Given the description of an element on the screen output the (x, y) to click on. 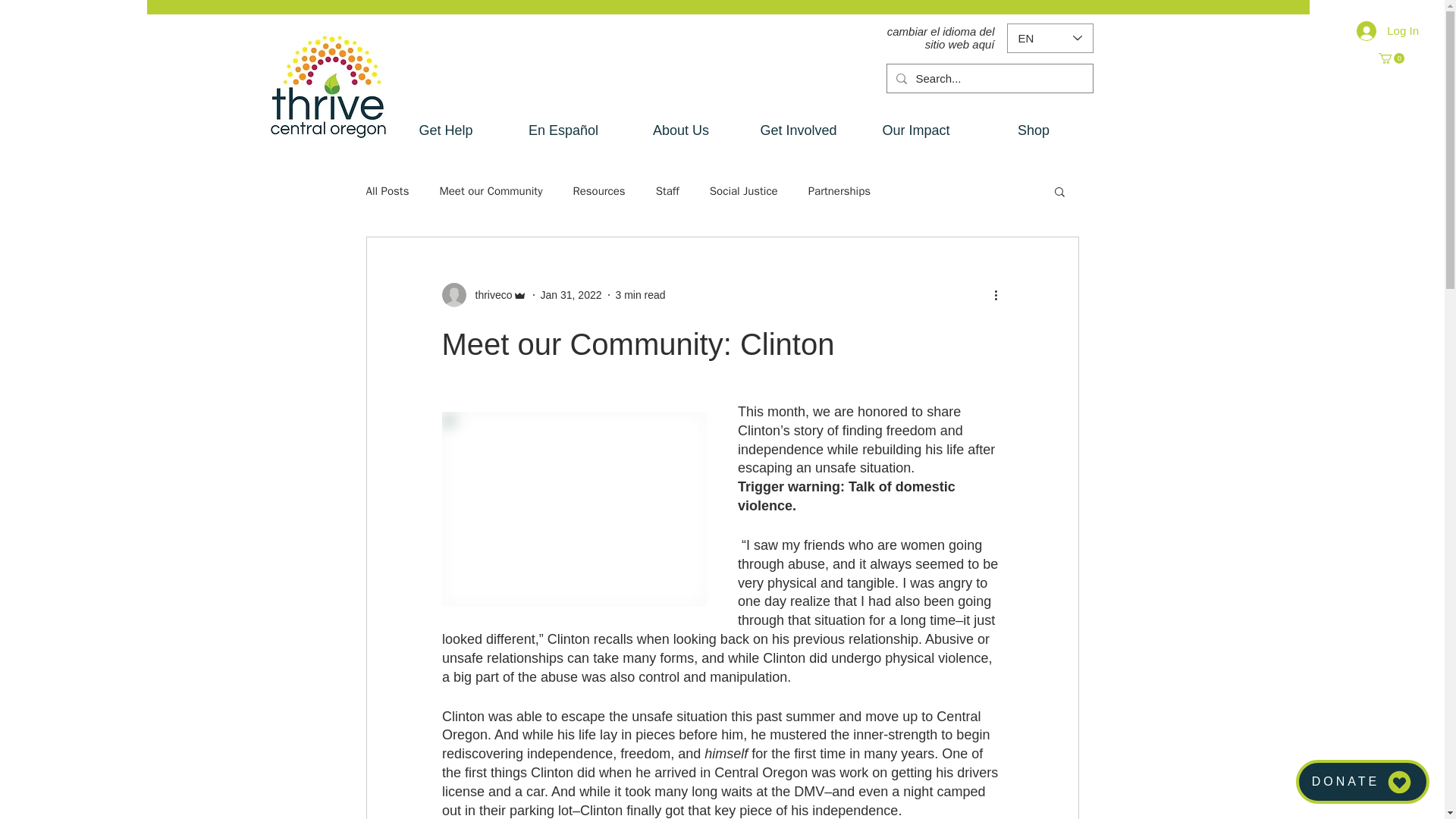
Meet our Community (490, 190)
thriveco (483, 294)
Get Help (445, 130)
Get Involved (798, 130)
Our Impact (915, 130)
Shop (1034, 130)
0 (1391, 58)
About Us (680, 130)
0 (1391, 58)
Social Justice (743, 190)
3 min read (640, 294)
thriveco (488, 294)
Staff (667, 190)
Partnerships (839, 190)
Log In (1387, 30)
